Given the description of an element on the screen output the (x, y) to click on. 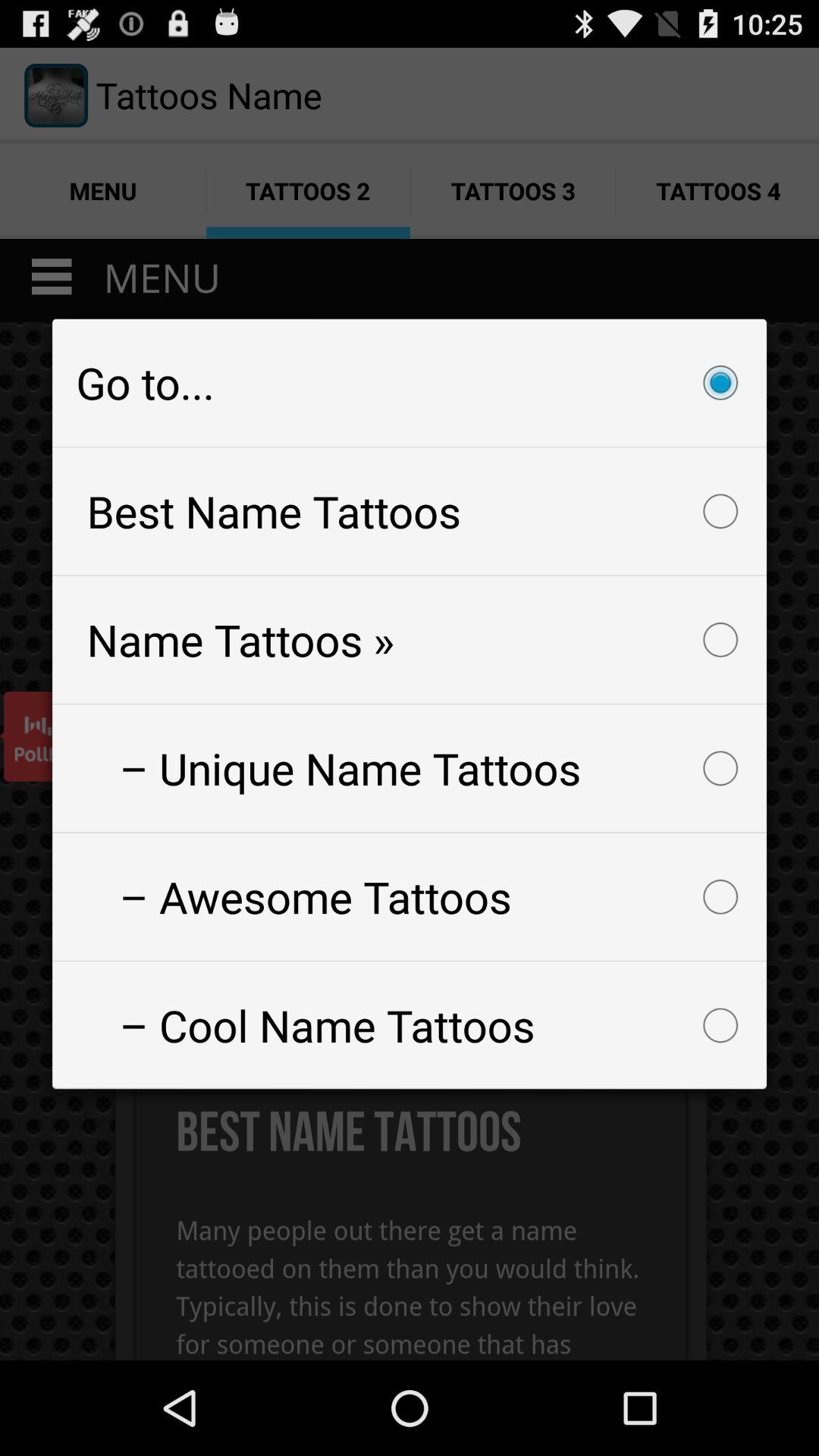
launch go to... (409, 382)
